Given the description of an element on the screen output the (x, y) to click on. 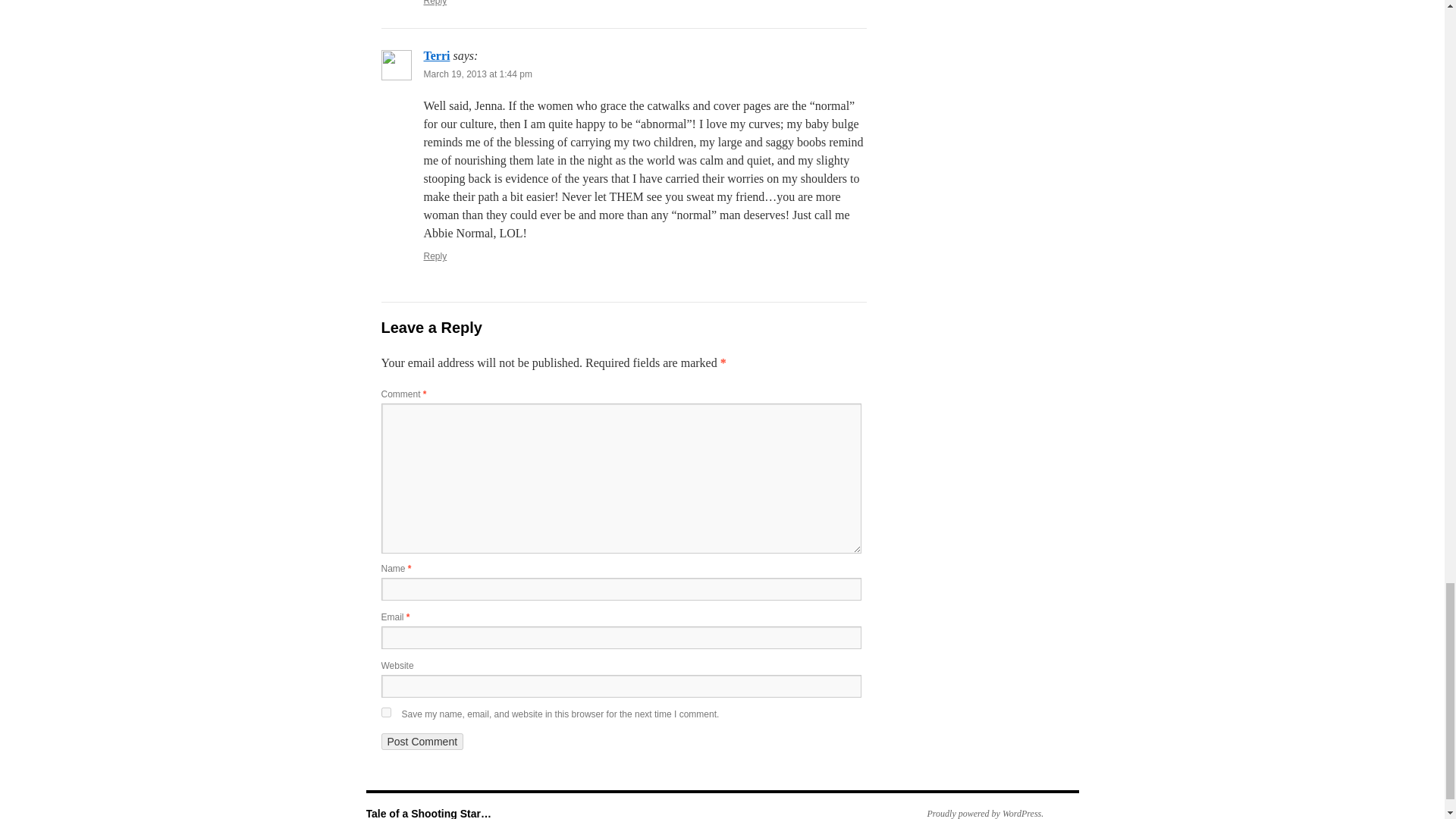
Post Comment (421, 741)
yes (385, 712)
